Given the description of an element on the screen output the (x, y) to click on. 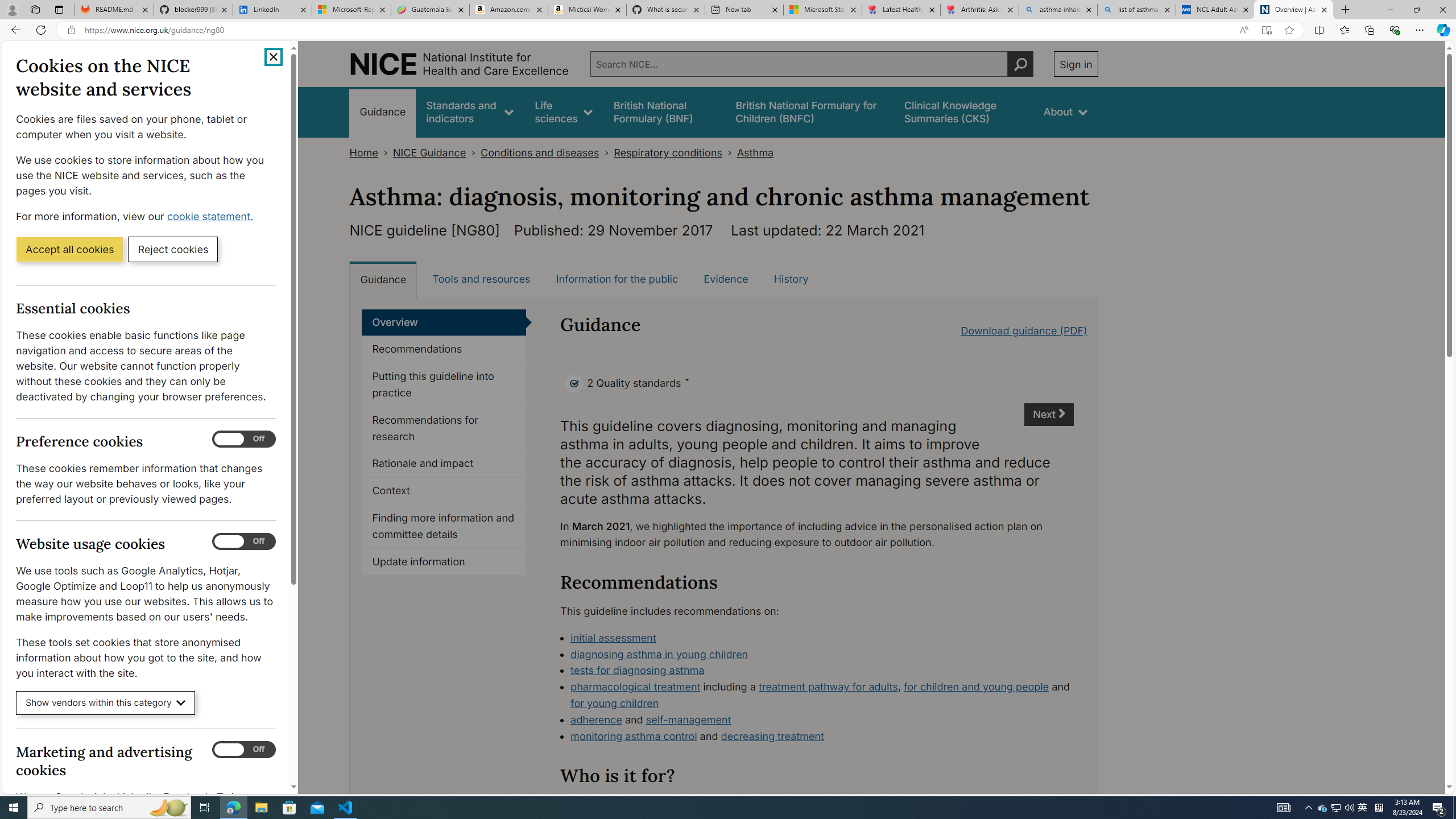
History (790, 279)
Asthma (755, 152)
asthma inhaler - Search (1057, 9)
adherence and self-management (822, 719)
British National Formulary for Children (BNFC) (809, 111)
Update information (444, 561)
Information for the public (617, 279)
diagnosing asthma in young children (659, 653)
Recommendations for research (444, 428)
